Given the description of an element on the screen output the (x, y) to click on. 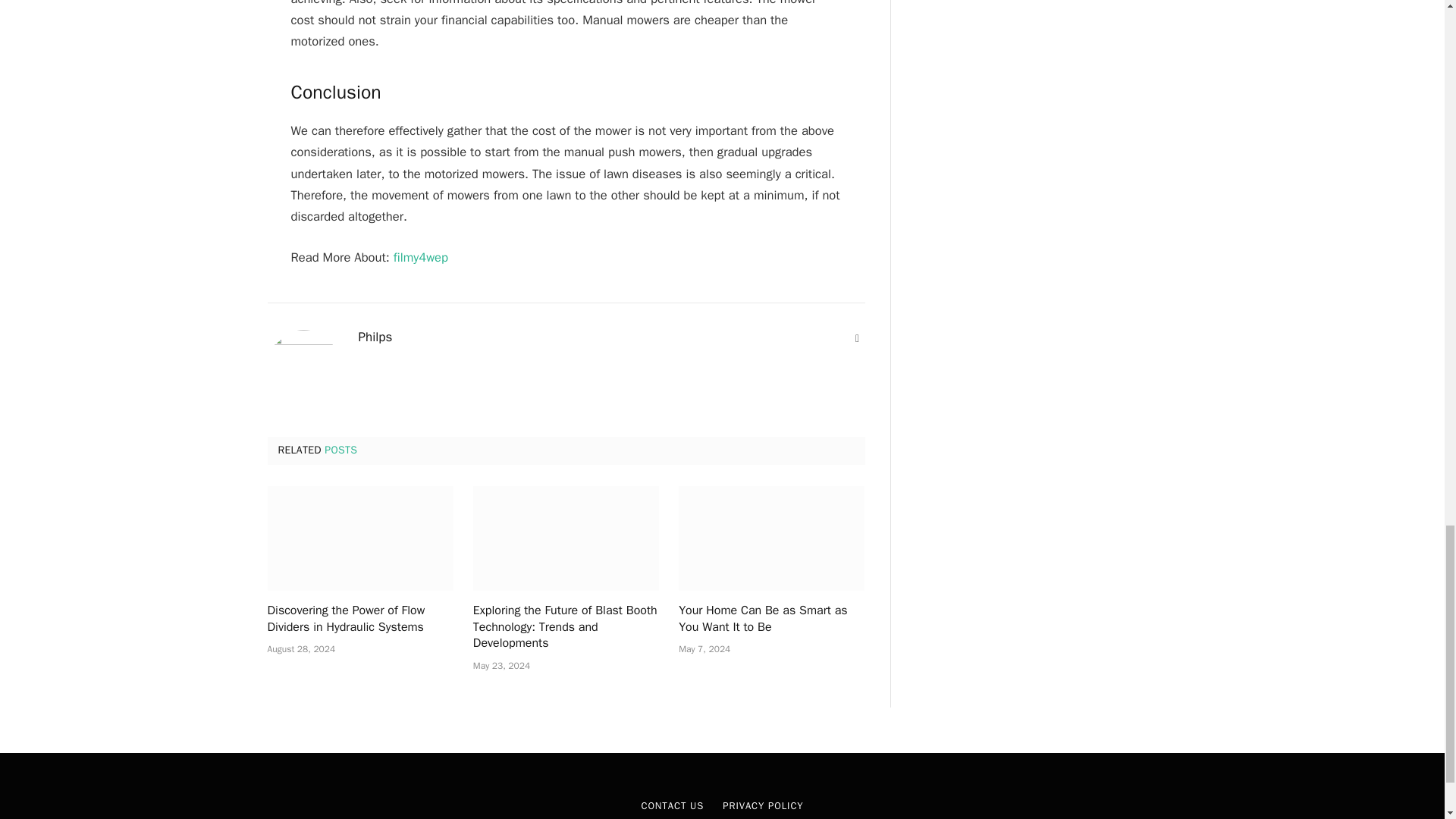
Website (856, 338)
filmy4wep (420, 257)
Philps (374, 337)
